Given the description of an element on the screen output the (x, y) to click on. 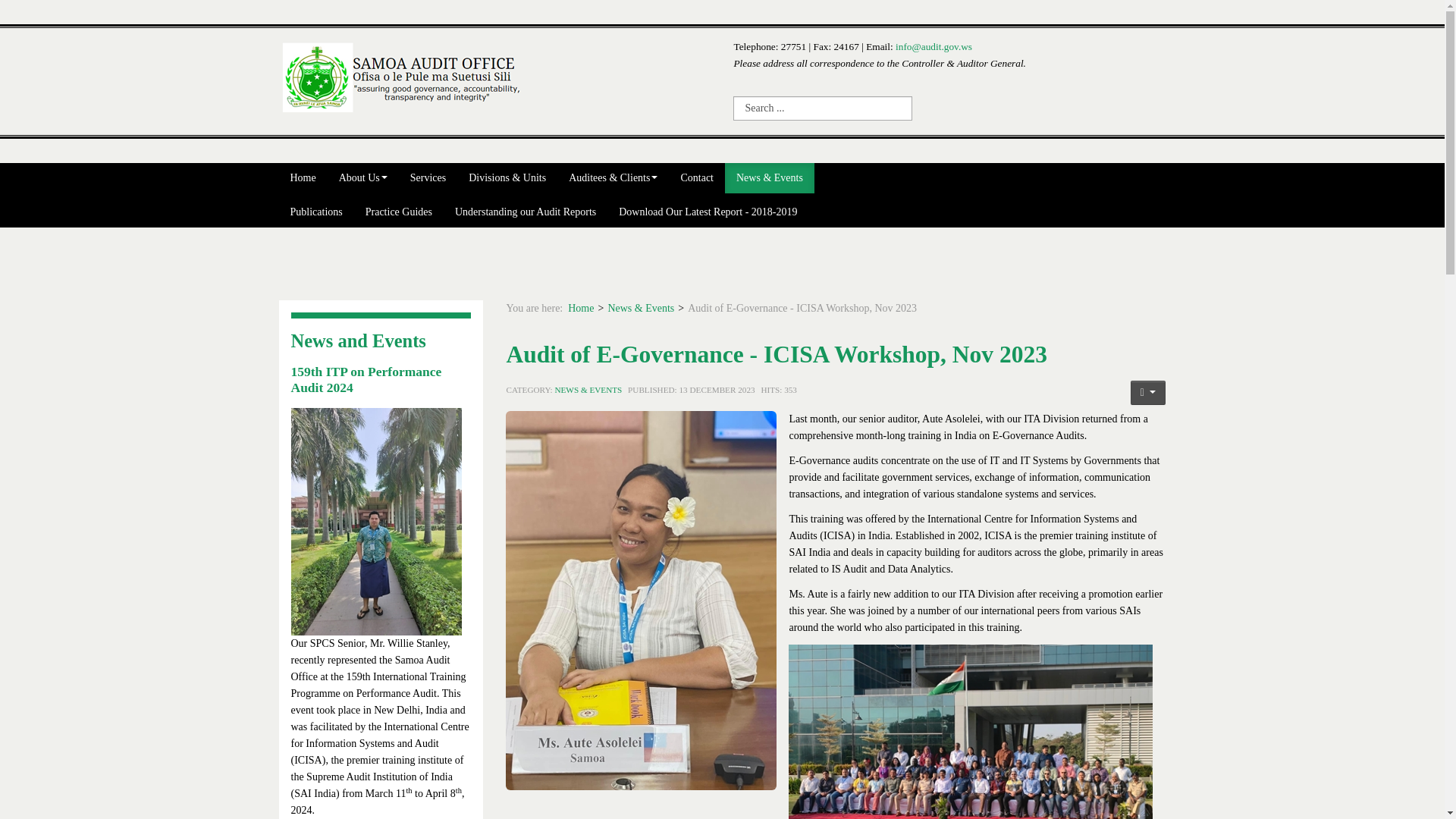
Practice Guides (398, 212)
Understanding our Audit Reports (525, 212)
Audit of E-Governance - ICISA Workshop, Nov 2023 (775, 354)
Search ... (822, 108)
Download Our Latest Report - 2018-2019 (707, 212)
Services (427, 177)
Publications (316, 212)
About Us (362, 177)
159th ITP on Performance Audit 2024 (366, 378)
Search ... (822, 108)
